Given the description of an element on the screen output the (x, y) to click on. 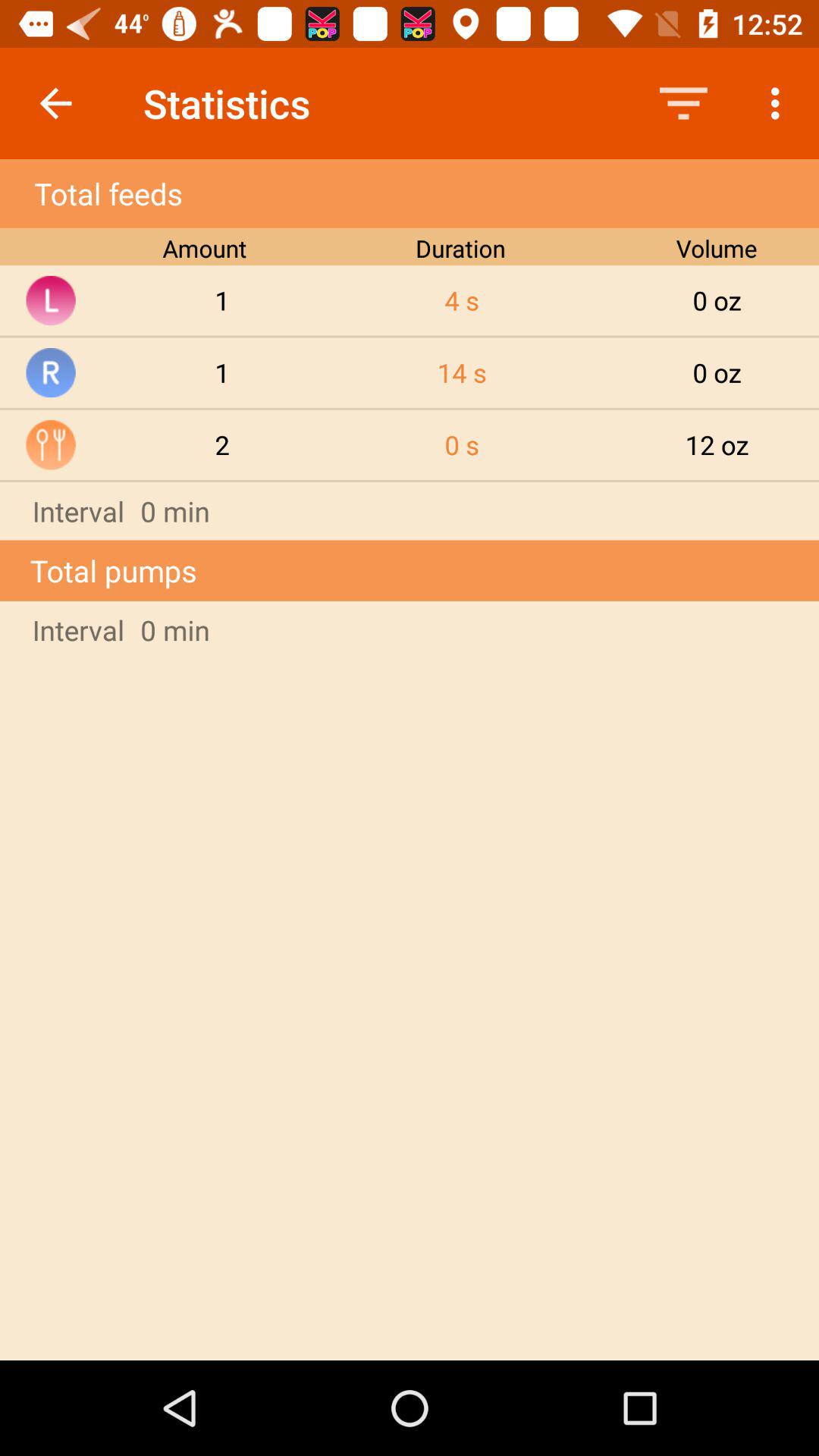
press item to the right of the statistics item (683, 103)
